Given the description of an element on the screen output the (x, y) to click on. 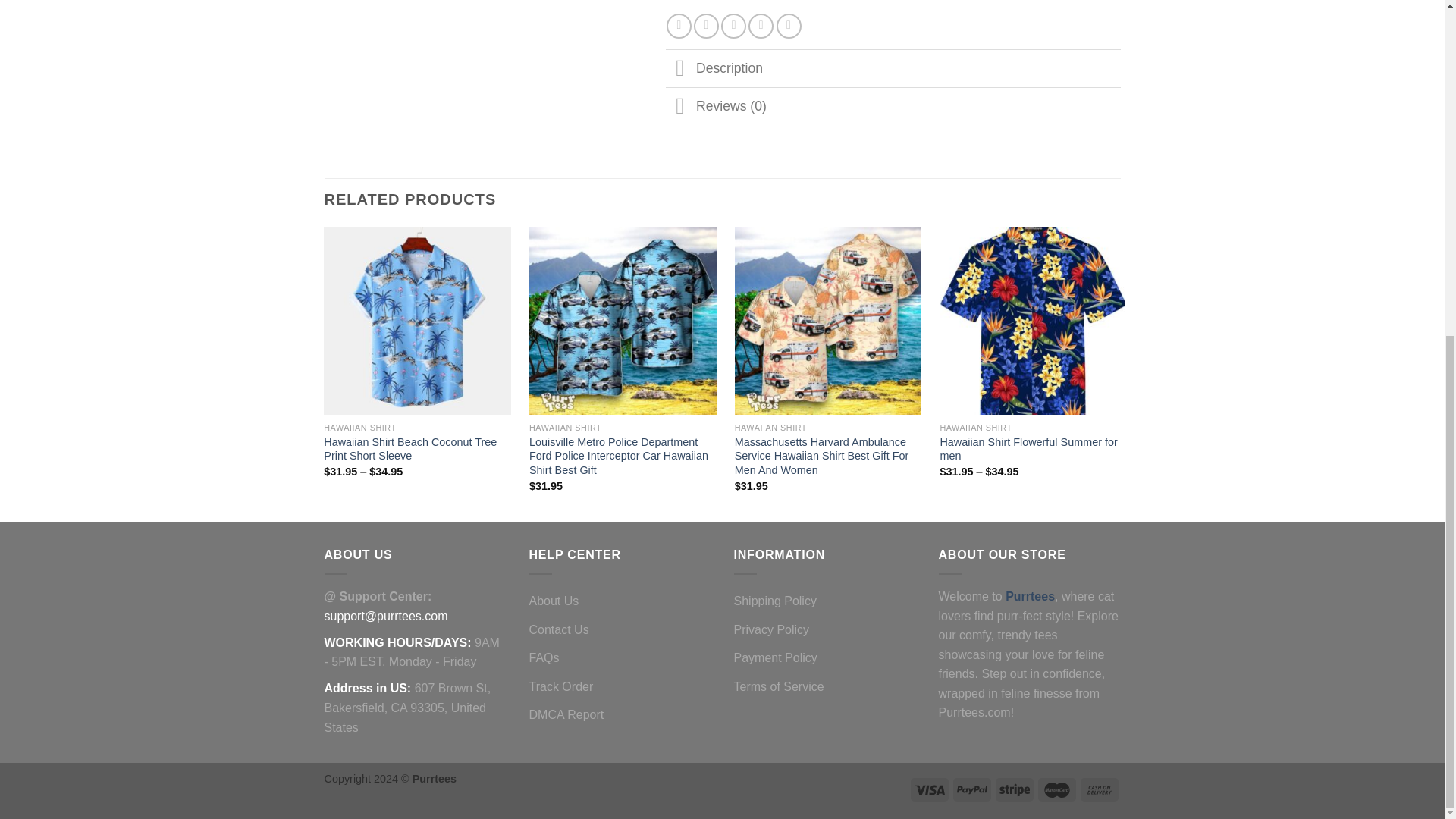
Description (893, 67)
